Given the description of an element on the screen output the (x, y) to click on. 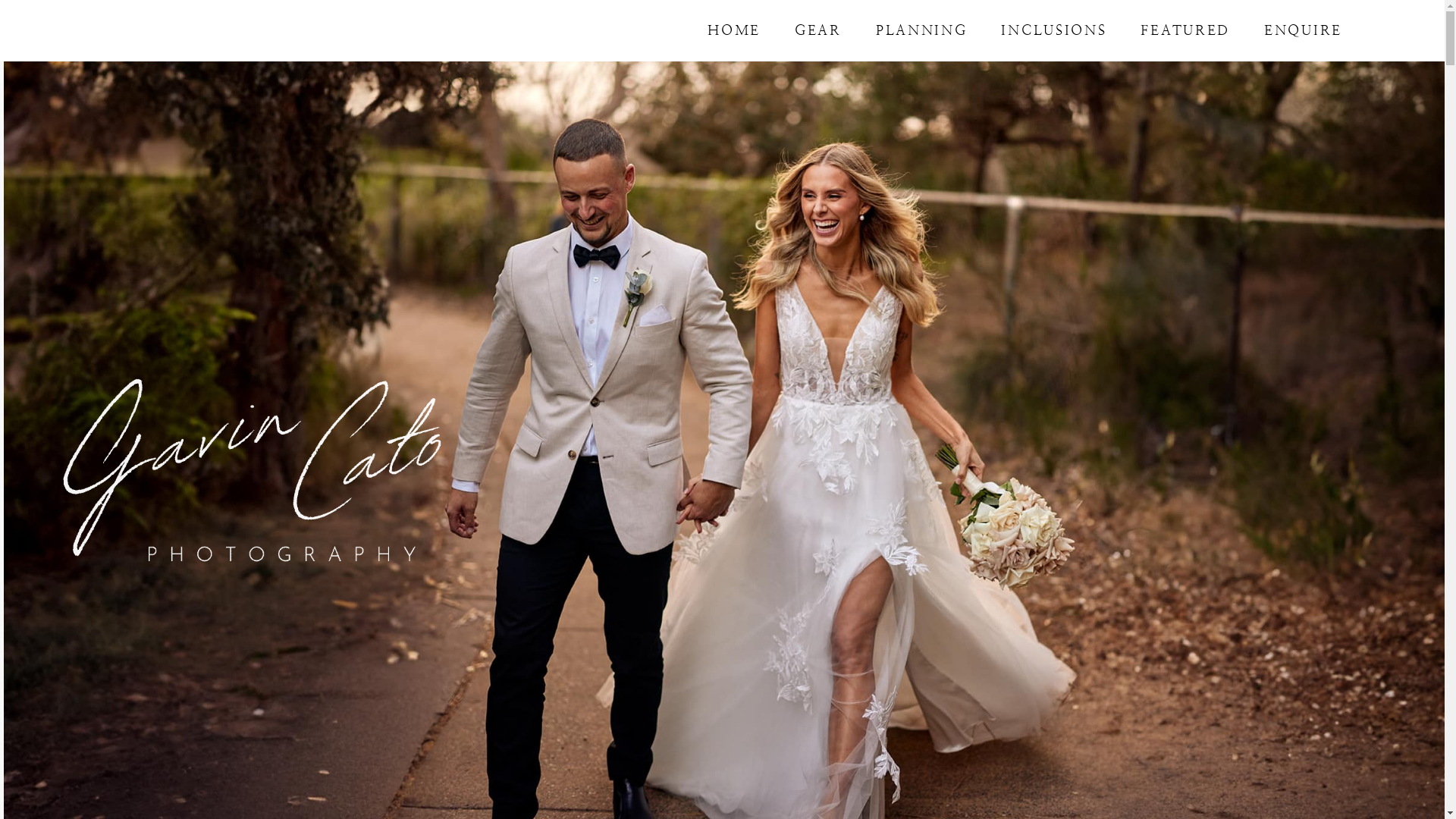
ENQUIRE Element type: text (1303, 30)
FEATURED Element type: text (1185, 30)
GEAR Element type: text (817, 30)
HOME Element type: text (733, 30)
INCLUSIONS Element type: text (1053, 30)
PLANNING Element type: text (921, 30)
